Given the description of an element on the screen output the (x, y) to click on. 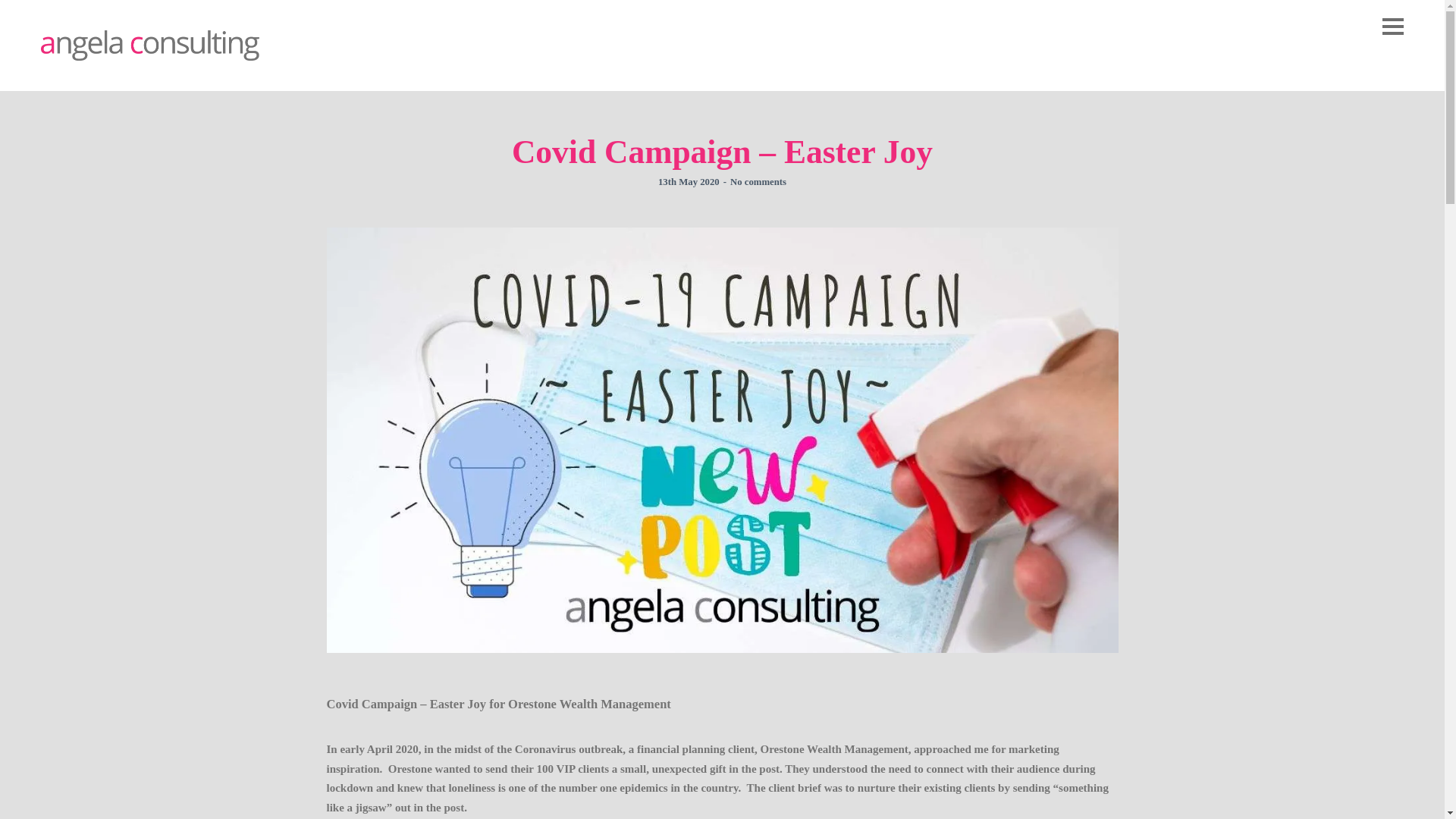
No comments (758, 181)
